Given the description of an element on the screen output the (x, y) to click on. 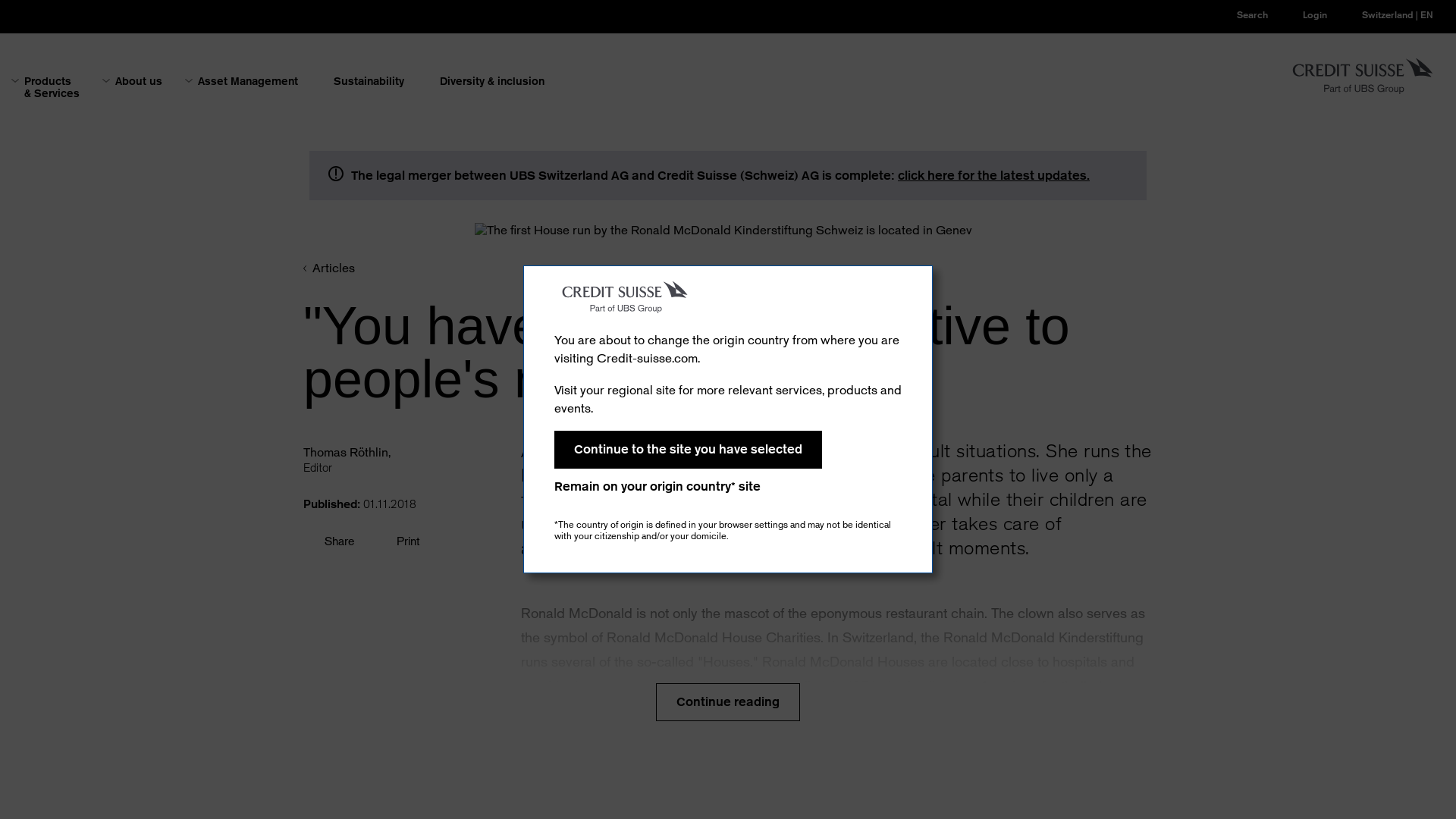
Search (1241, 14)
Login (1302, 14)
